Given the description of an element on the screen output the (x, y) to click on. 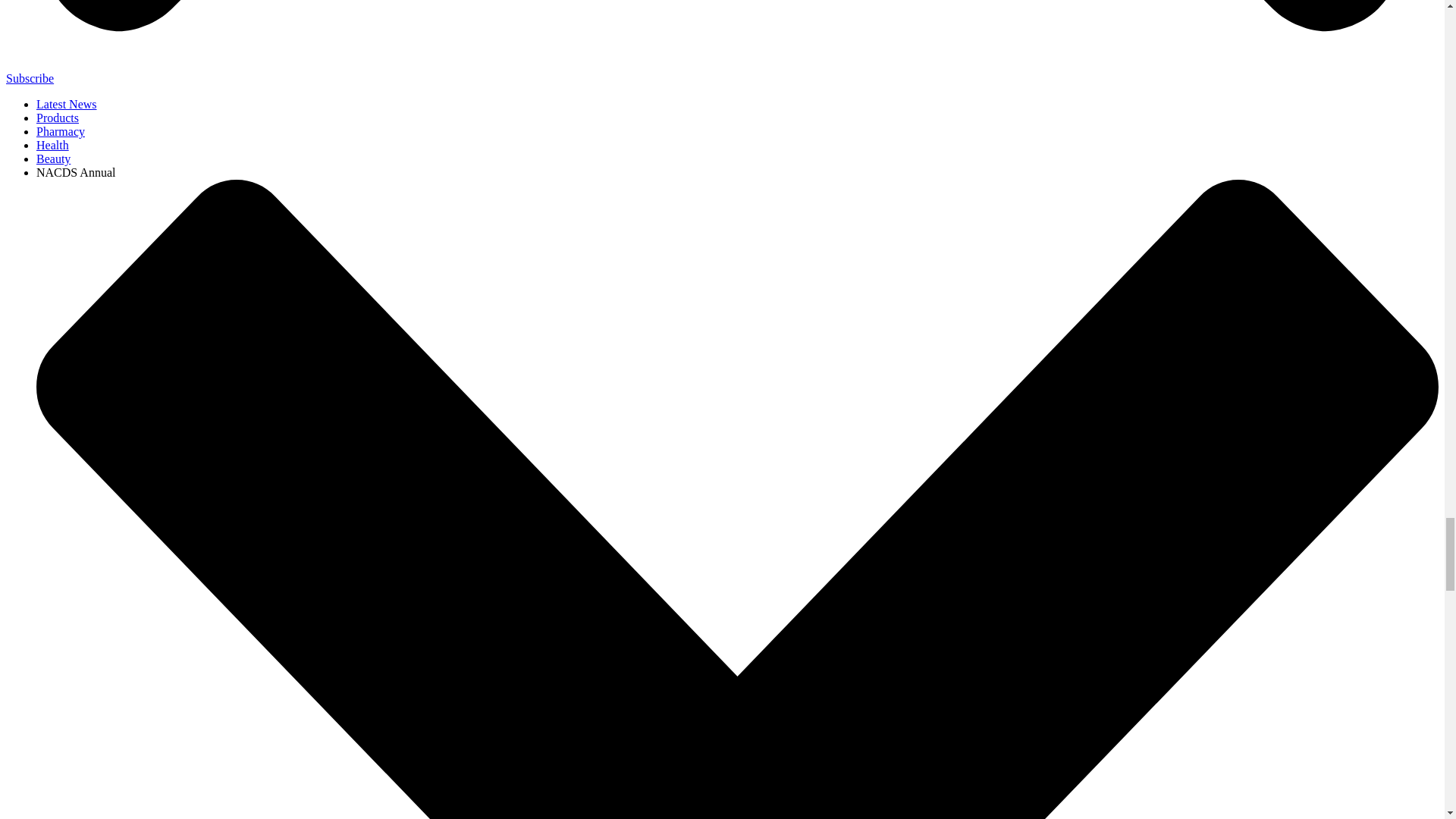
Latest News (66, 103)
Beauty (52, 158)
Health (52, 144)
Subscribe (29, 78)
Pharmacy (60, 131)
Products (57, 117)
NACDS Annual (75, 172)
